Given the description of an element on the screen output the (x, y) to click on. 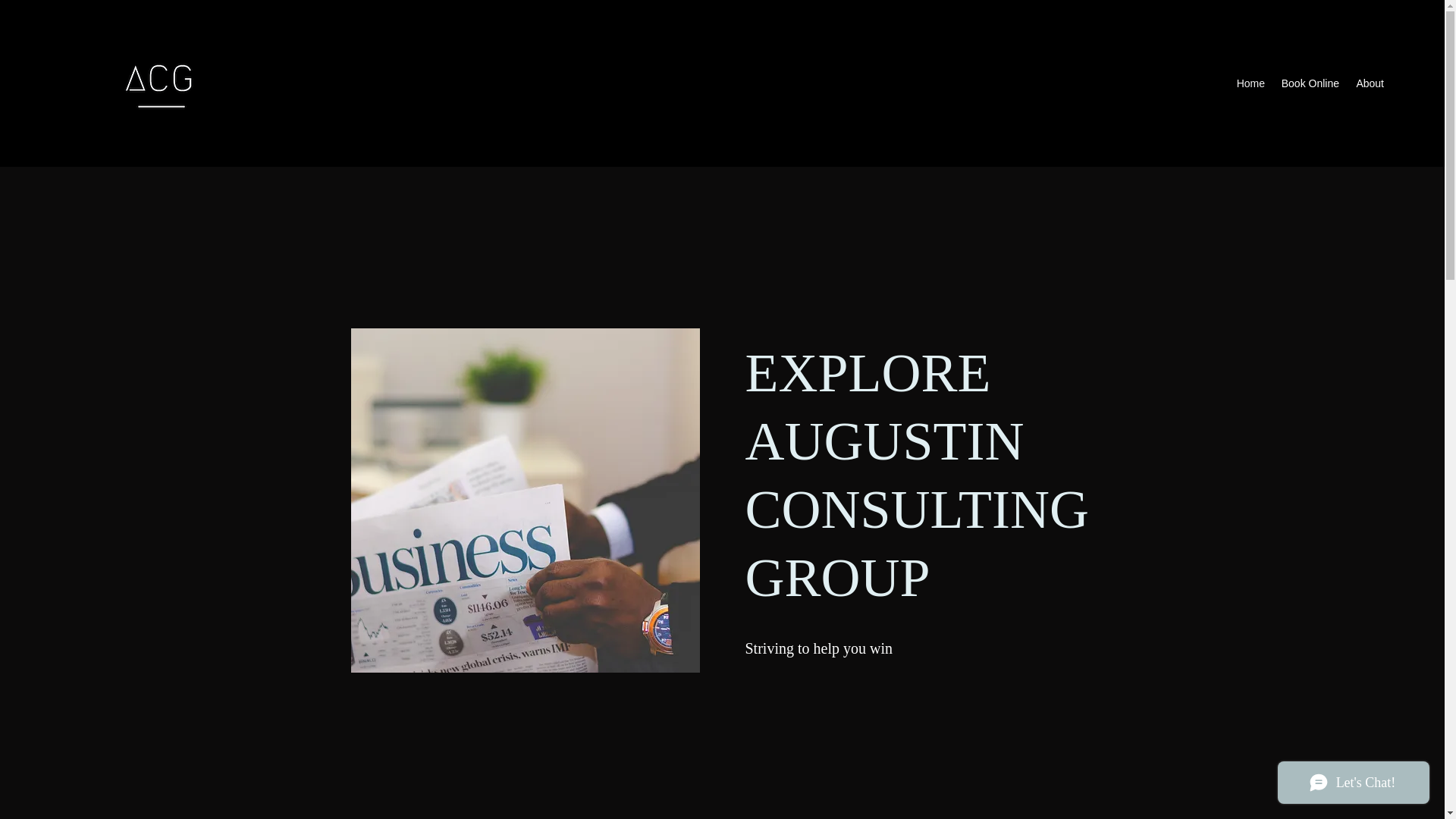
Book Online (1309, 83)
About (1368, 83)
Home (1249, 83)
